Given the description of an element on the screen output the (x, y) to click on. 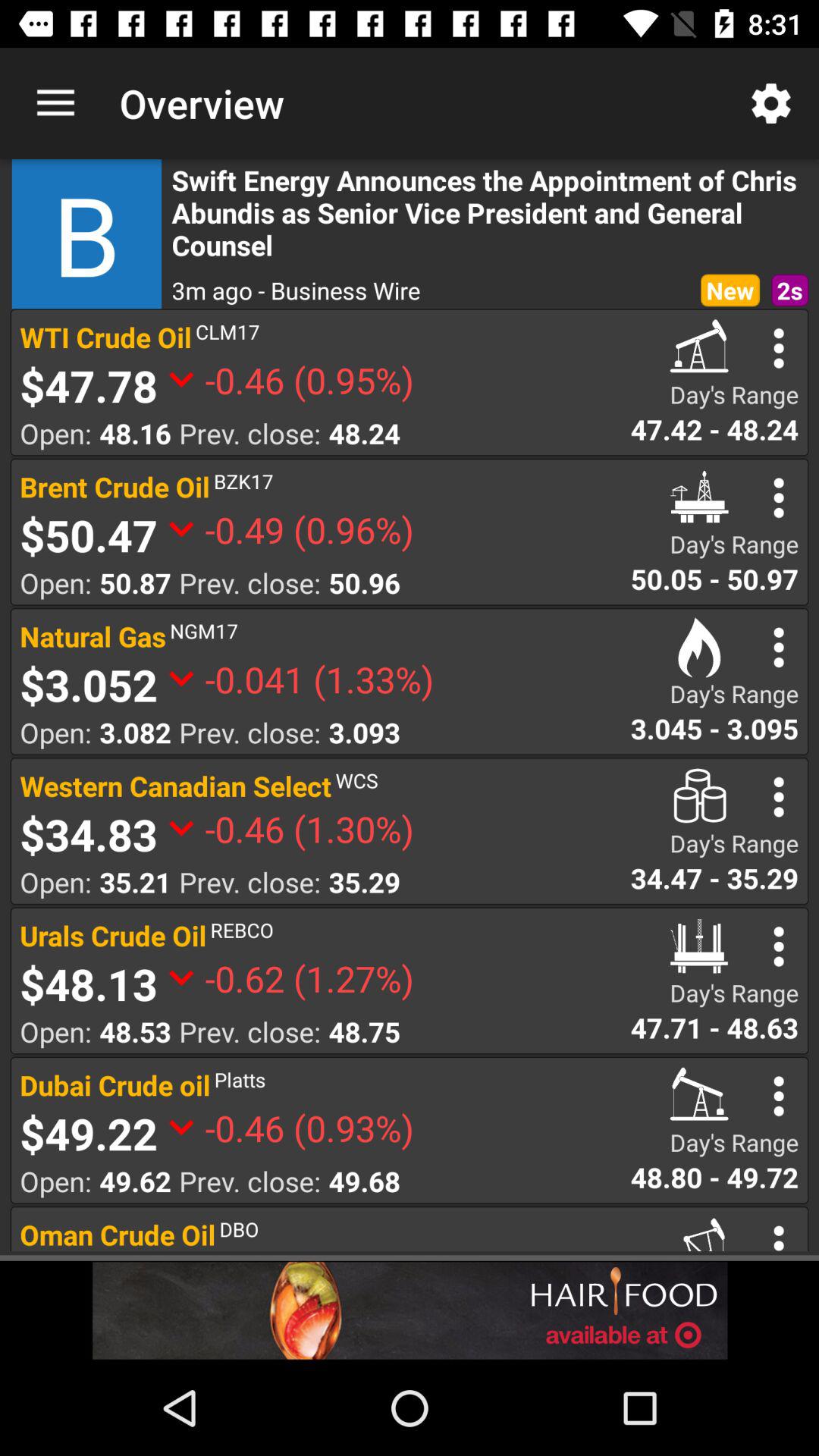
open status (778, 348)
